Given the description of an element on the screen output the (x, y) to click on. 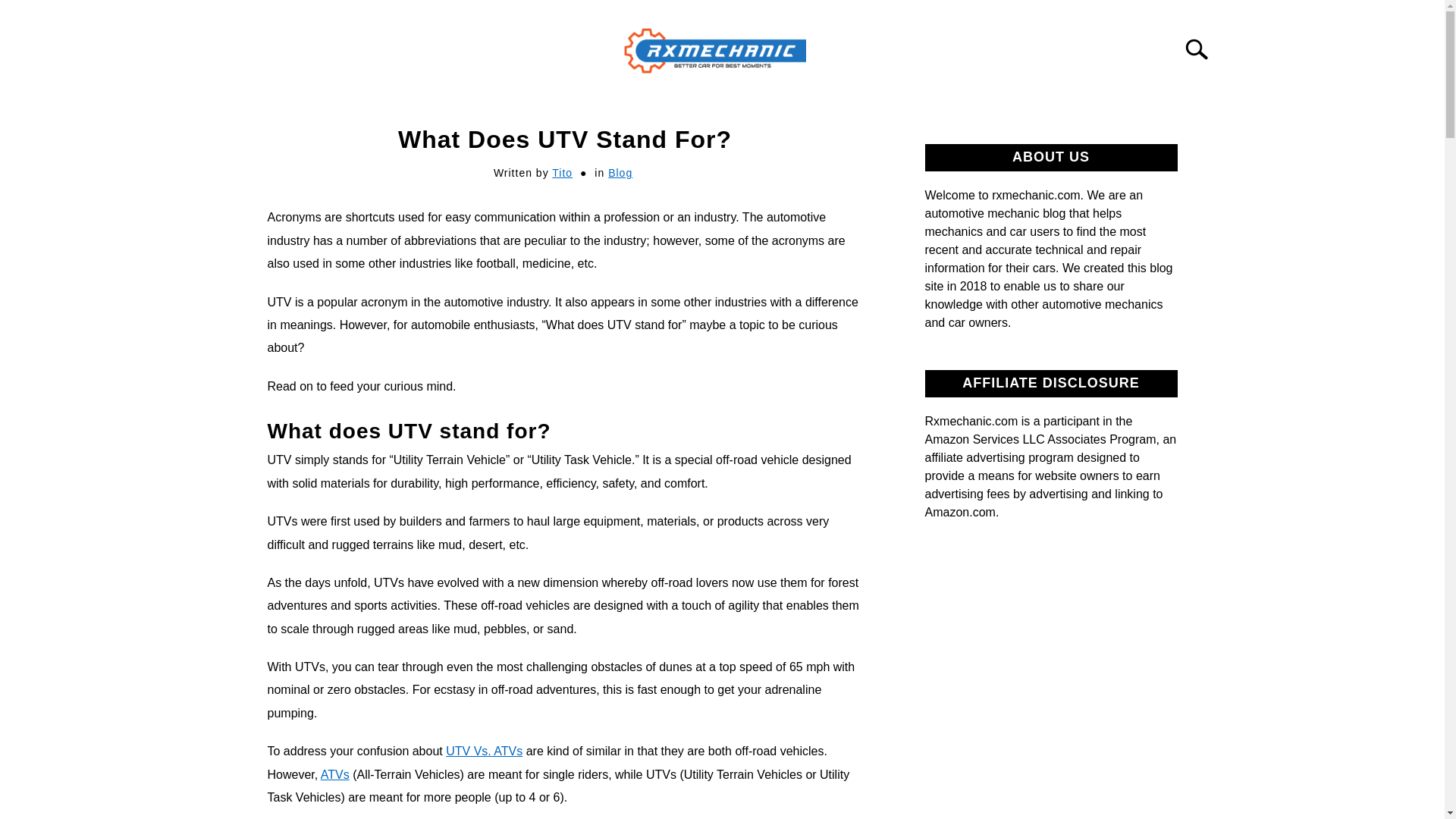
Search (1203, 49)
UTV Vs. ATVs (483, 750)
Tito (561, 173)
Blog (619, 173)
